Given the description of an element on the screen output the (x, y) to click on. 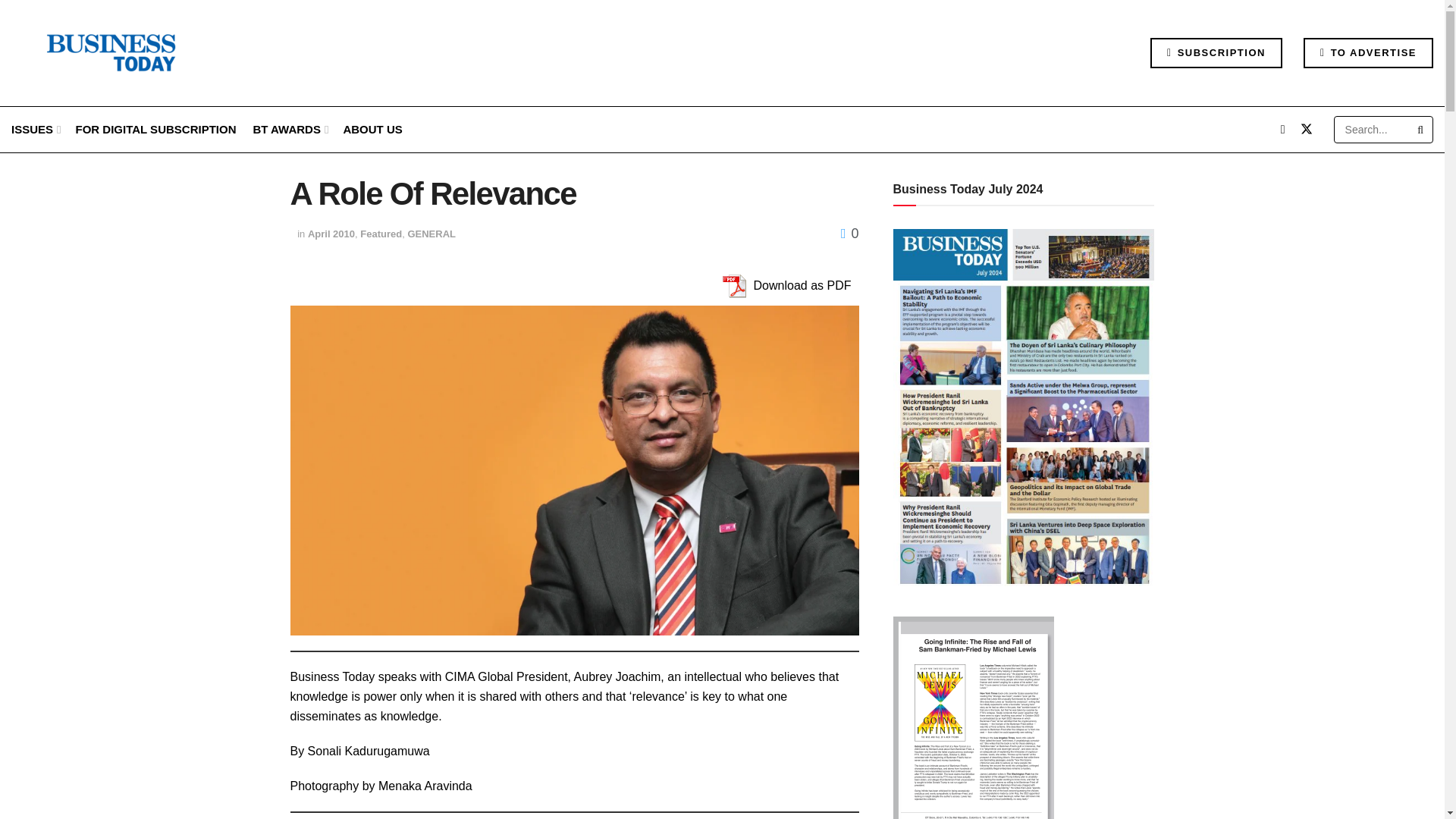
Download PDF (733, 286)
ISSUES (35, 129)
TO ADVERTISE (1367, 52)
SUBSCRIPTION (1216, 52)
